Given the description of an element on the screen output the (x, y) to click on. 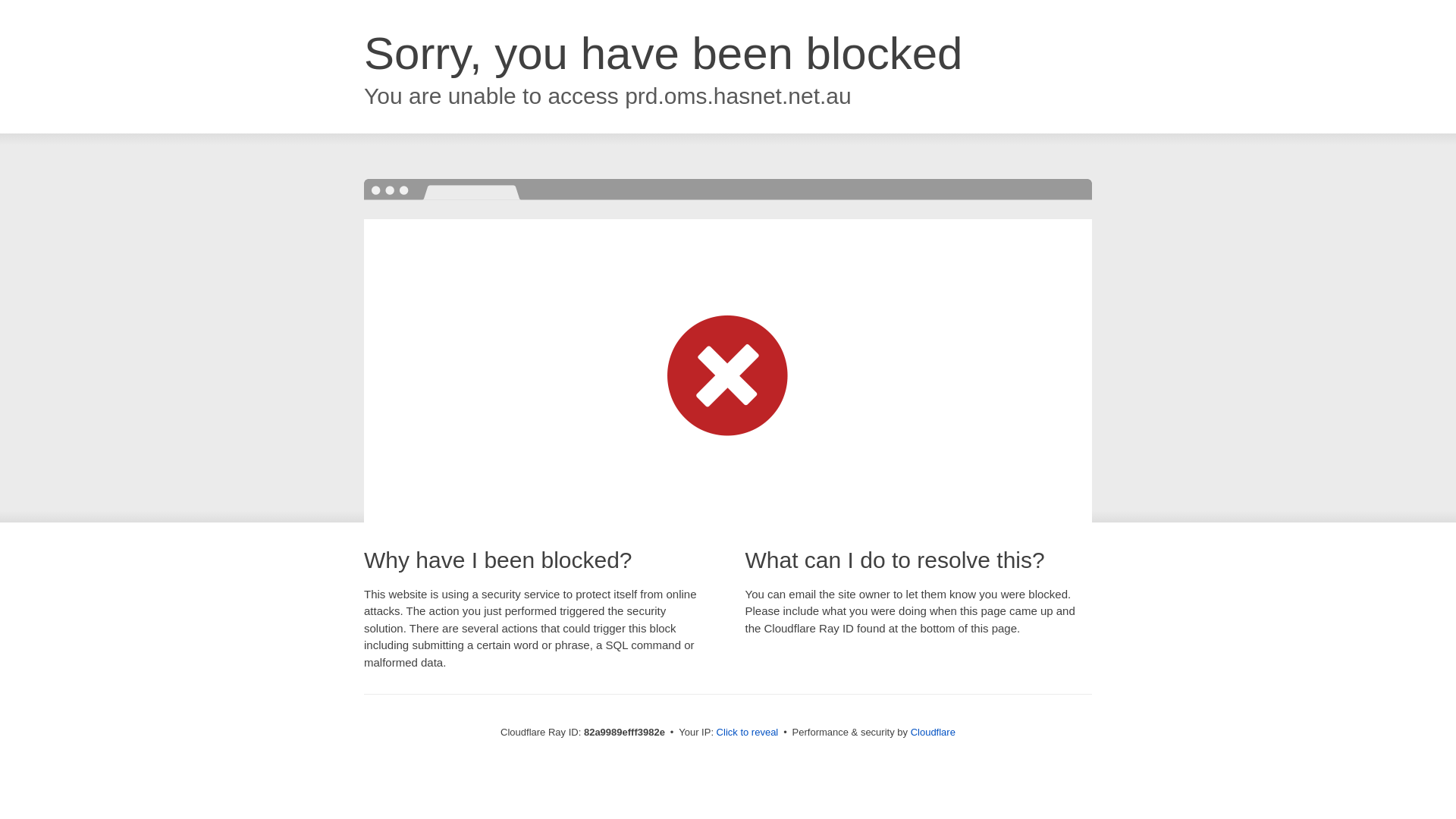
Click to reveal Element type: text (747, 732)
Cloudflare Element type: text (932, 731)
